Given the description of an element on the screen output the (x, y) to click on. 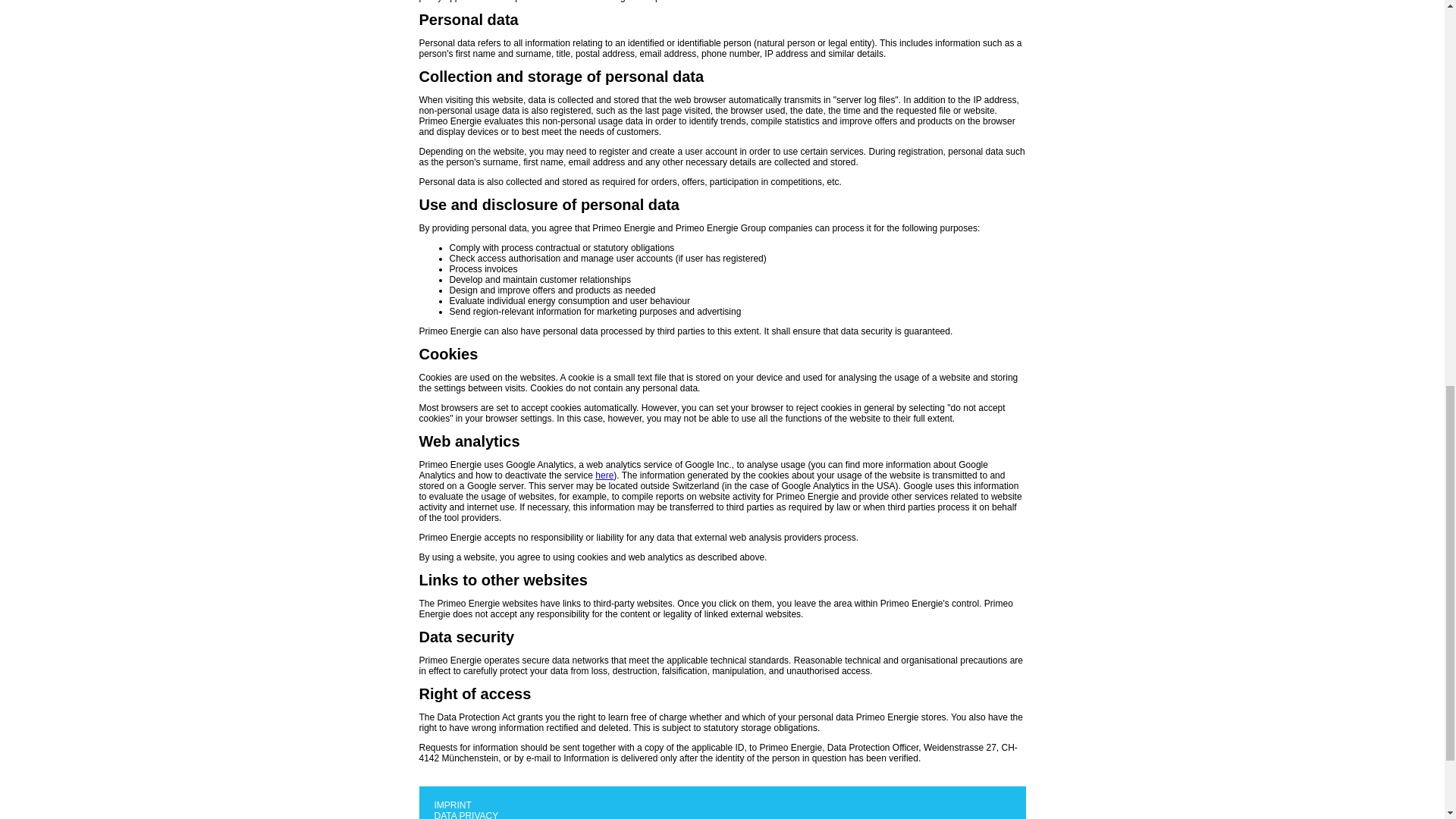
here (603, 475)
DATA PRIVACY (465, 814)
IMPRINT (451, 805)
